Given the description of an element on the screen output the (x, y) to click on. 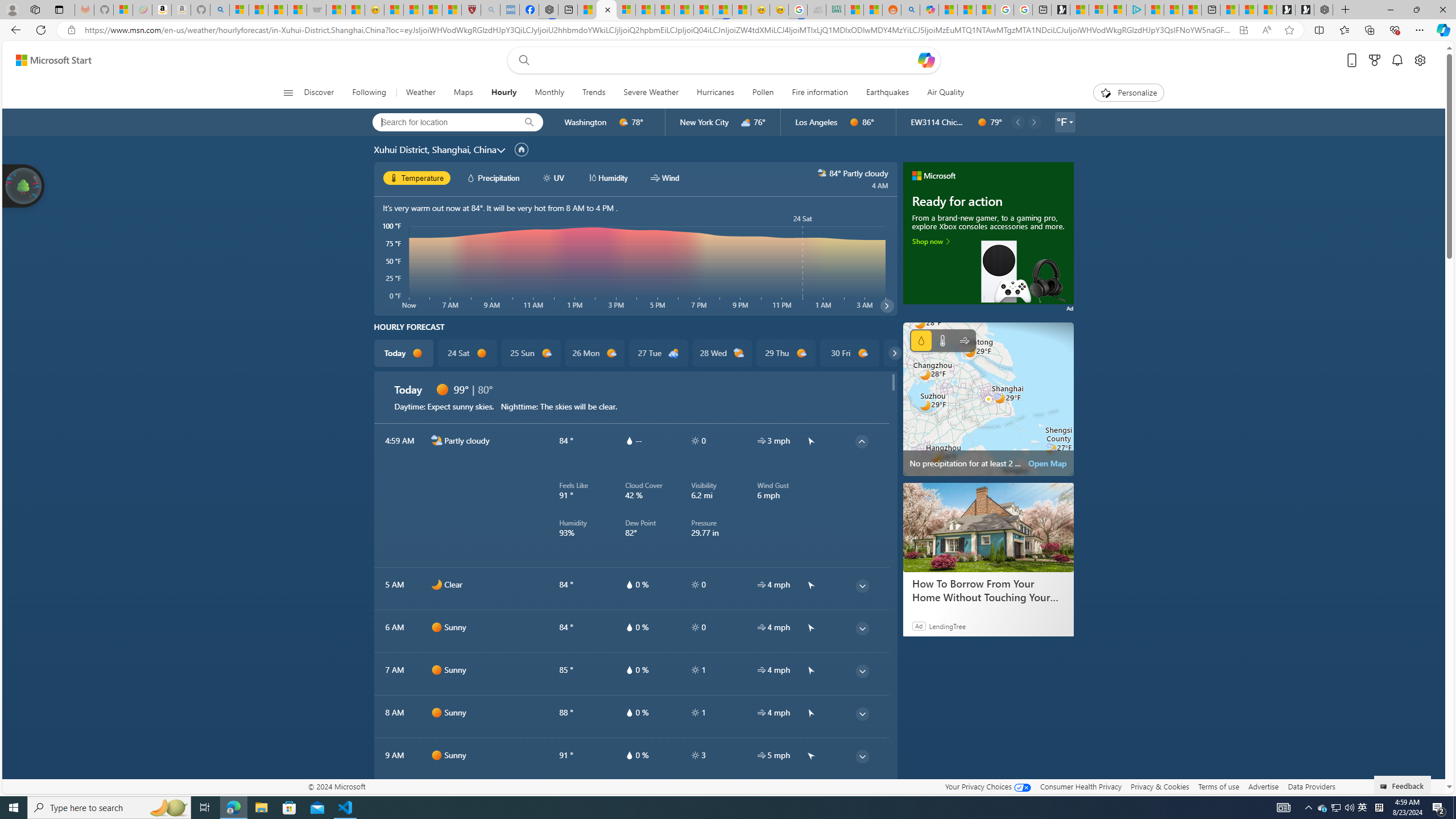
Severe Weather (650, 92)
Data Providers (1311, 785)
Recipes - MSN (393, 9)
hourlyChart/windWhite (655, 177)
Terms of use (1218, 786)
